Given the description of an element on the screen output the (x, y) to click on. 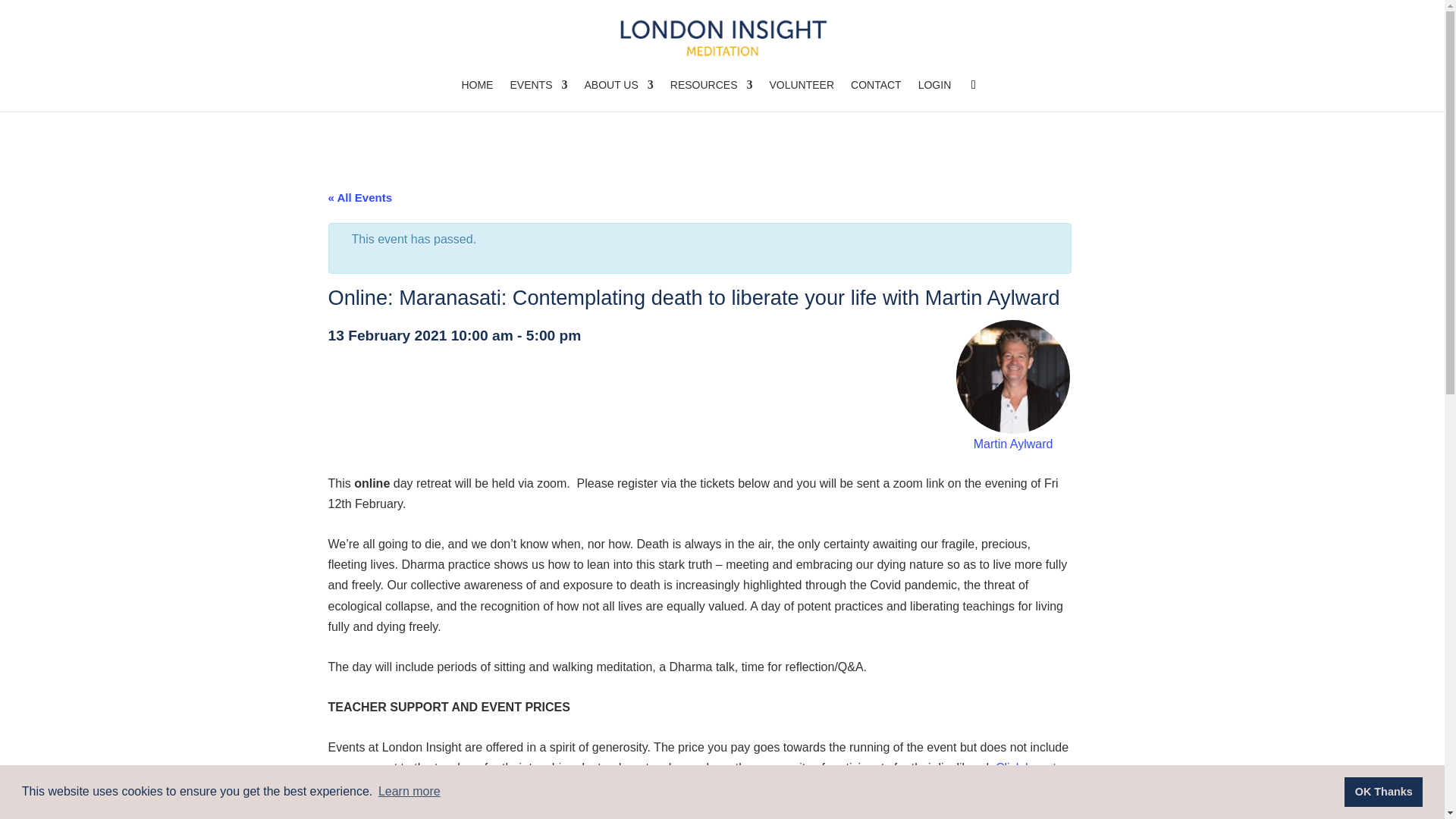
CONTACT (875, 95)
HOME (477, 95)
EVENTS (538, 95)
LOGIN (935, 95)
RESOURCES (710, 95)
ABOUT US (617, 95)
VOLUNTEER (801, 95)
